Given the description of an element on the screen output the (x, y) to click on. 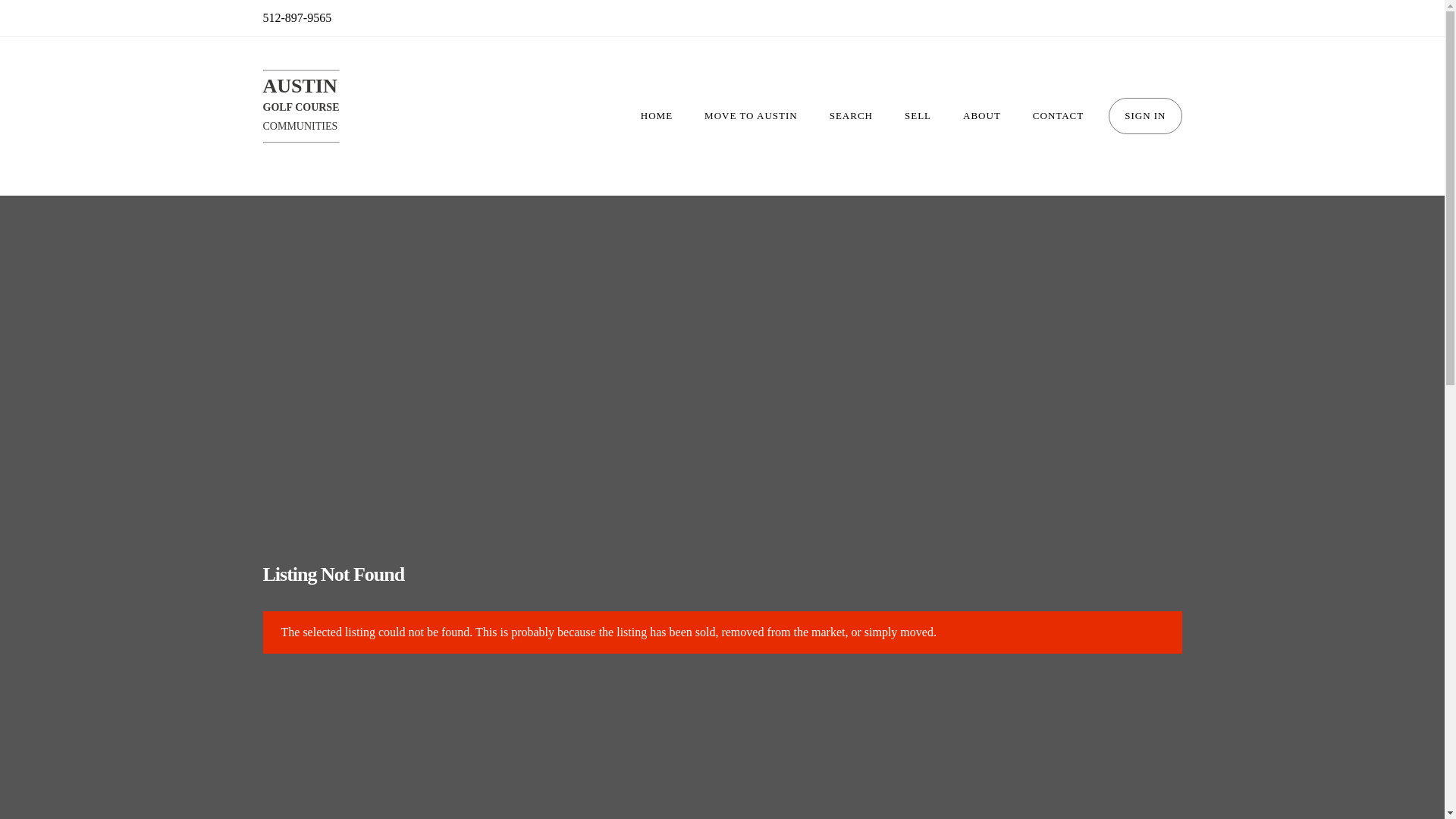
MOVE TO AUSTIN (300, 106)
SIGN IN (750, 115)
CONTACT (1144, 115)
SELL (1057, 115)
512-897-9565 (917, 115)
SEARCH (296, 17)
ABOUT (850, 115)
HOME (981, 115)
